Given the description of an element on the screen output the (x, y) to click on. 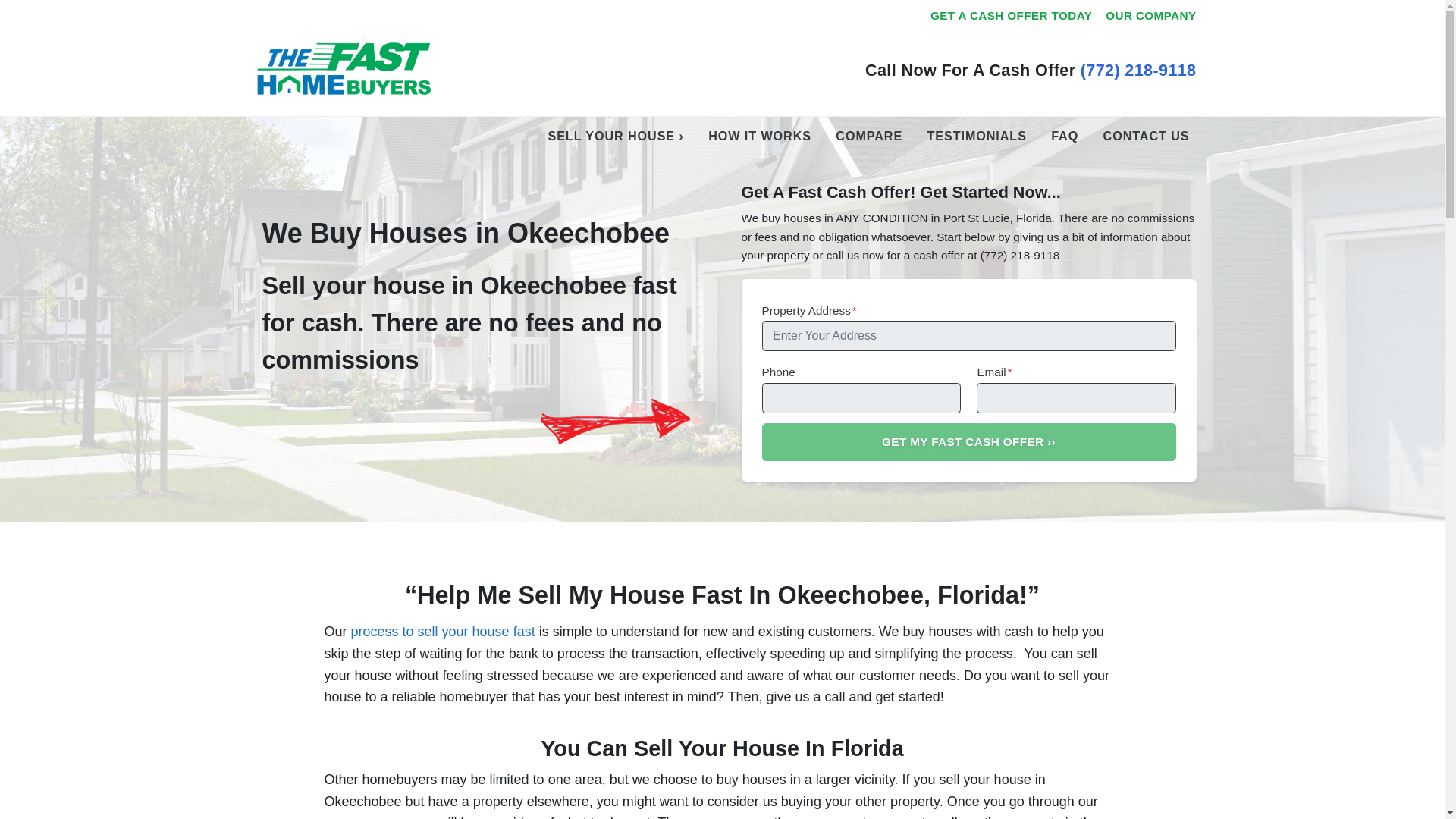
CONTACT US (1146, 136)
How It Works (759, 136)
FAQ (1063, 136)
Contact Us (1146, 136)
GET A CASH OFFER TODAY (1011, 15)
Arrow Right (614, 421)
process to sell your house fast (444, 631)
TESTIMONIALS (976, 136)
HOW IT WORKS (759, 136)
FAQ (1063, 136)
Compare (868, 136)
OUR COMPANY (1150, 15)
Testimonials (976, 136)
COMPARE (868, 136)
